Given the description of an element on the screen output the (x, y) to click on. 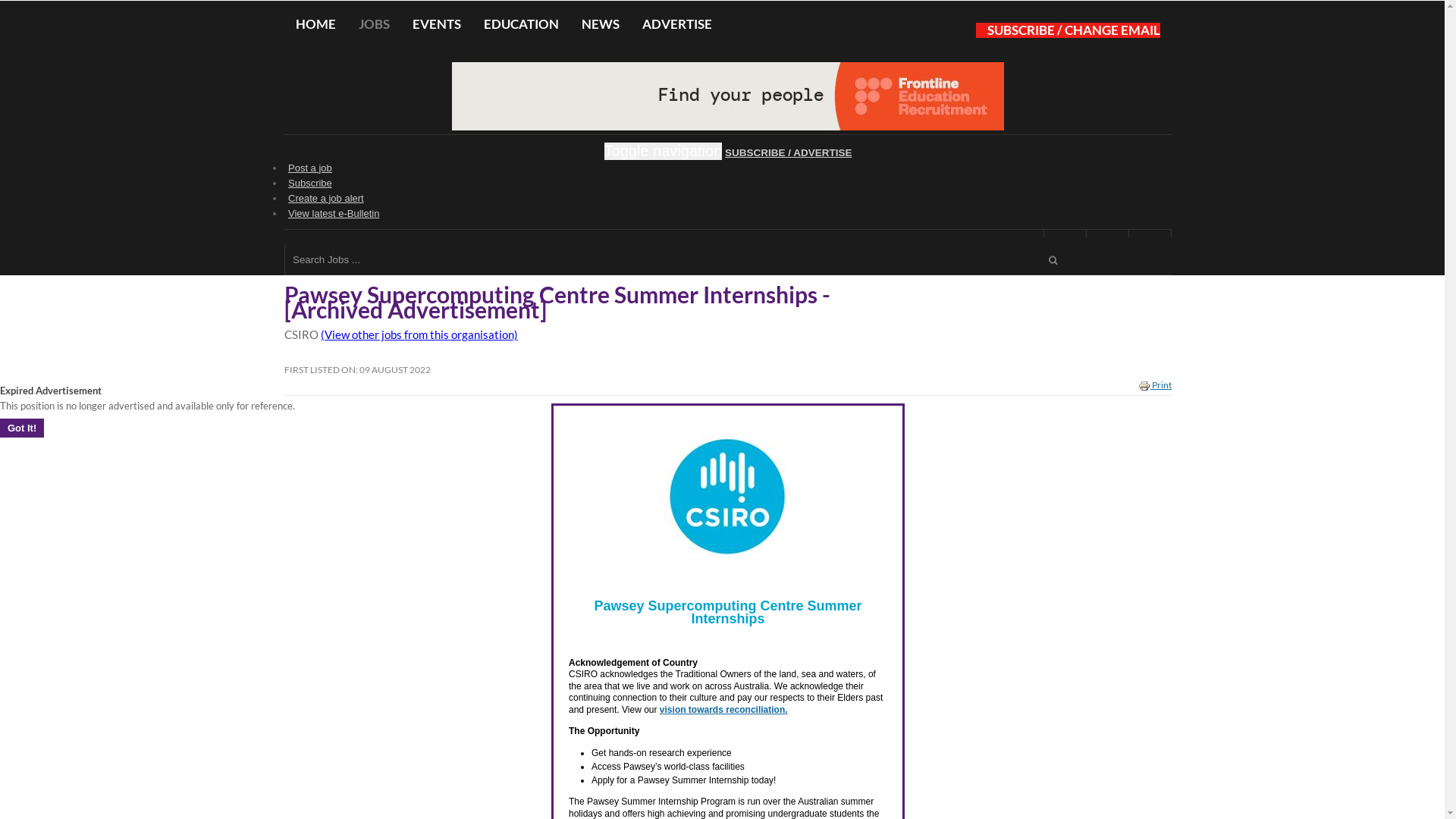
Post a job Element type: text (310, 478)
(View other jobs from this organisation) Element type: text (418, 645)
SUBSCRIBE / ADVERTISE Element type: text (788, 463)
Subscribe Element type: text (310, 493)
Print Element type: text (1154, 695)
ADVERTISE Element type: text (677, 334)
JOBS Element type: text (373, 334)
EDUCATION Element type: text (520, 334)
View latest e-Bulletin Element type: text (333, 524)
Search Element type: text (1053, 571)
Toggle navigation Element type: text (663, 461)
EVENTS Element type: text (436, 334)
Got It! Element type: text (21, 738)
HOME Element type: text (315, 334)
NEWS Element type: text (600, 334)
SUBSCRIBE / CHANGE EMAIL Element type: text (1067, 340)
Create a job alert Element type: text (326, 508)
